Given the description of an element on the screen output the (x, y) to click on. 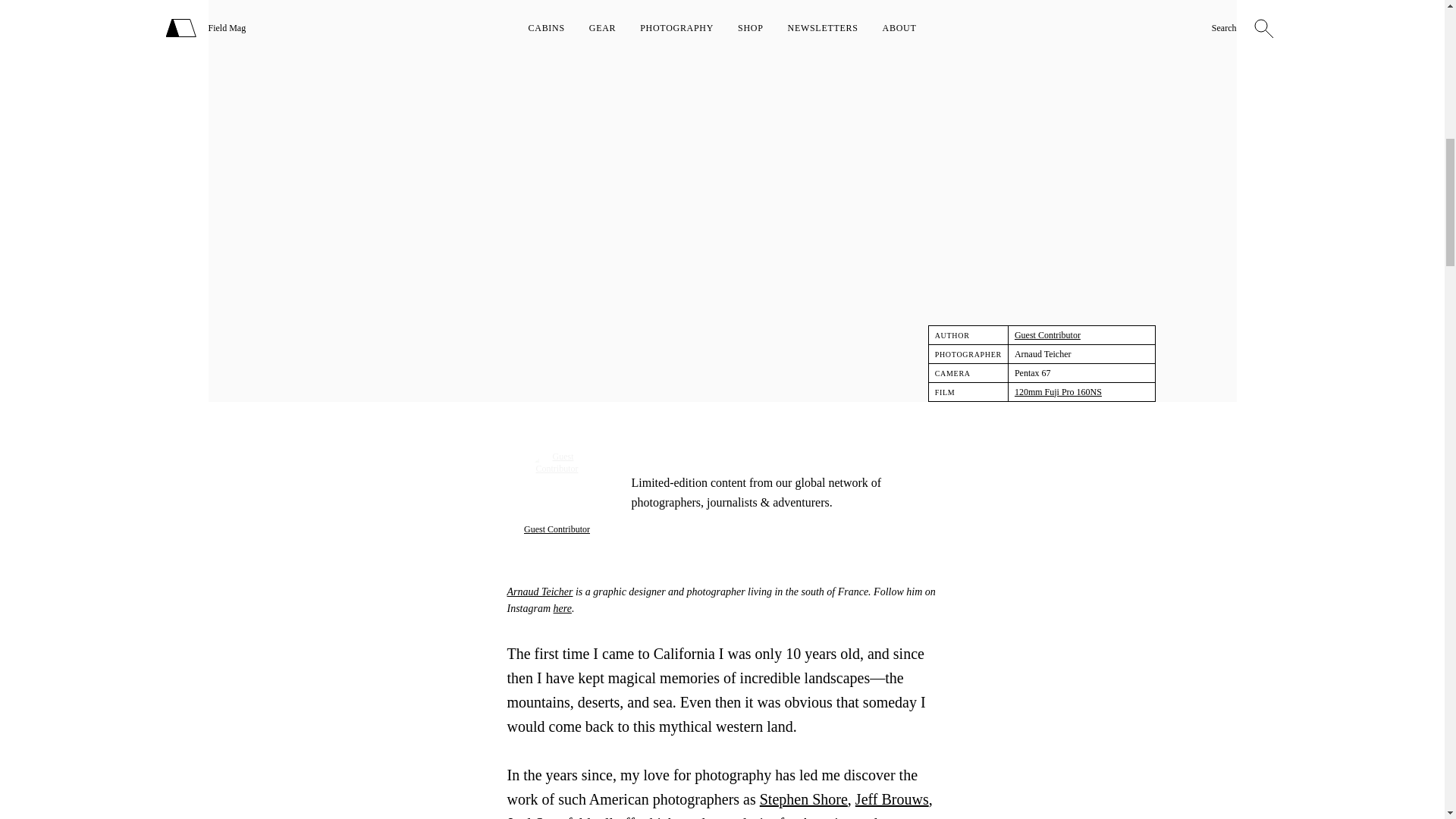
Jeff Brouws (892, 799)
here (562, 608)
Guest Contributor (556, 529)
Joel Sternfeld (548, 816)
Stephen Shore (803, 799)
Guest Contributor (1047, 335)
120mm Fuji Pro 160NS (1058, 391)
Arnaud Teicher (539, 591)
